Given the description of an element on the screen output the (x, y) to click on. 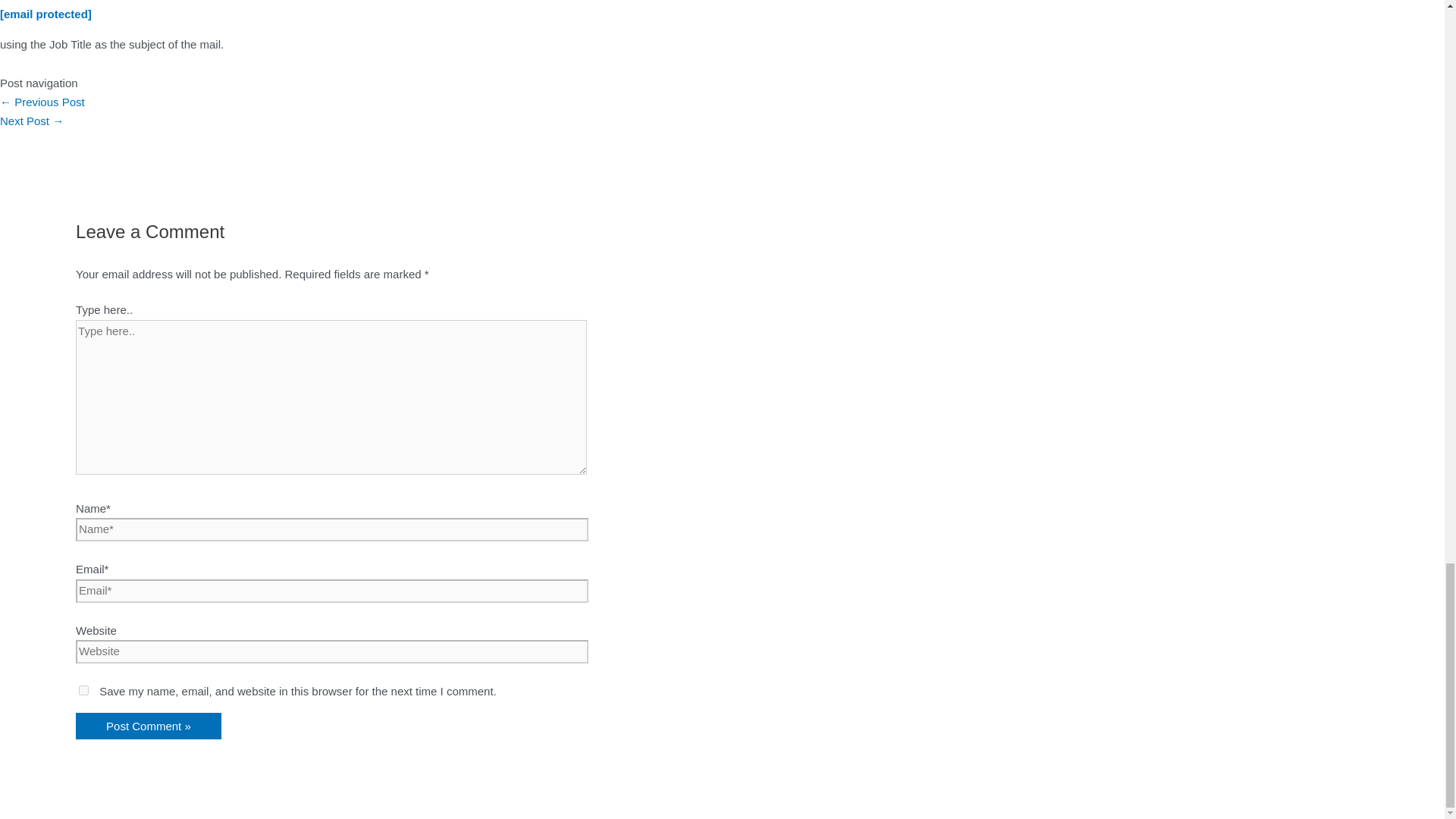
Apply now: Gas Turbine Manager at Flour Mills of Nigeria Plc (42, 101)
yes (83, 690)
